Given the description of an element on the screen output the (x, y) to click on. 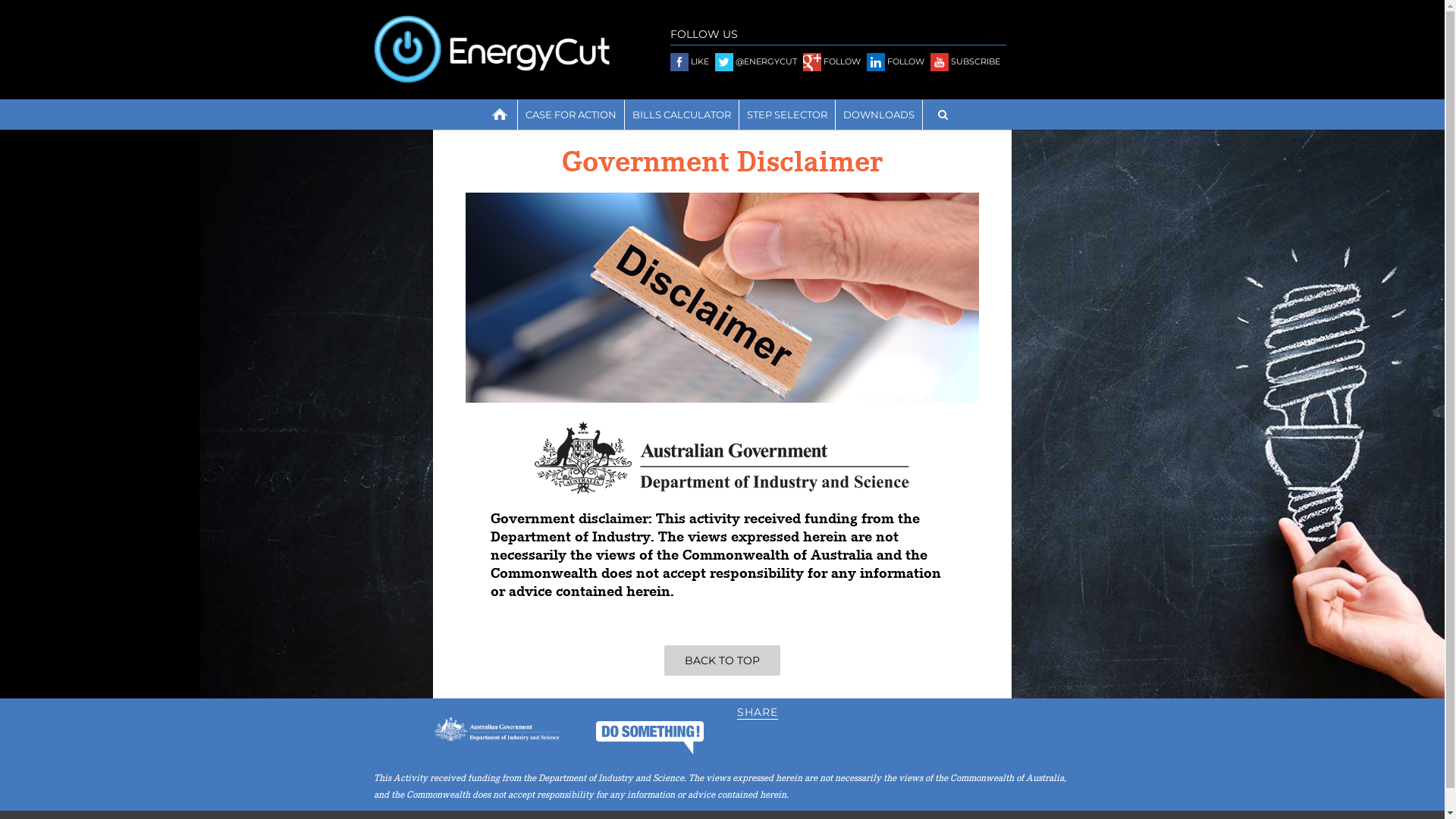
BACK TO TOP Element type: text (721, 660)
STEP SELECTOR Element type: text (786, 114)
FOLLOW Element type: text (894, 61)
Department of Industry and Science Element type: hover (721, 457)
Australian Government Department of Industry Element type: hover (495, 728)
@ENERGYCUT Element type: text (755, 61)
DO SOMETHING! Element type: hover (649, 738)
SUBSCRIBE Element type: text (964, 61)
DOWNLOADS Element type: text (878, 114)
CASE FOR ACTION Element type: text (570, 114)
BILLS CALCULATOR Element type: text (681, 114)
LIKE Element type: text (689, 61)
FOLLOW Element type: text (830, 61)
